Given the description of an element on the screen output the (x, y) to click on. 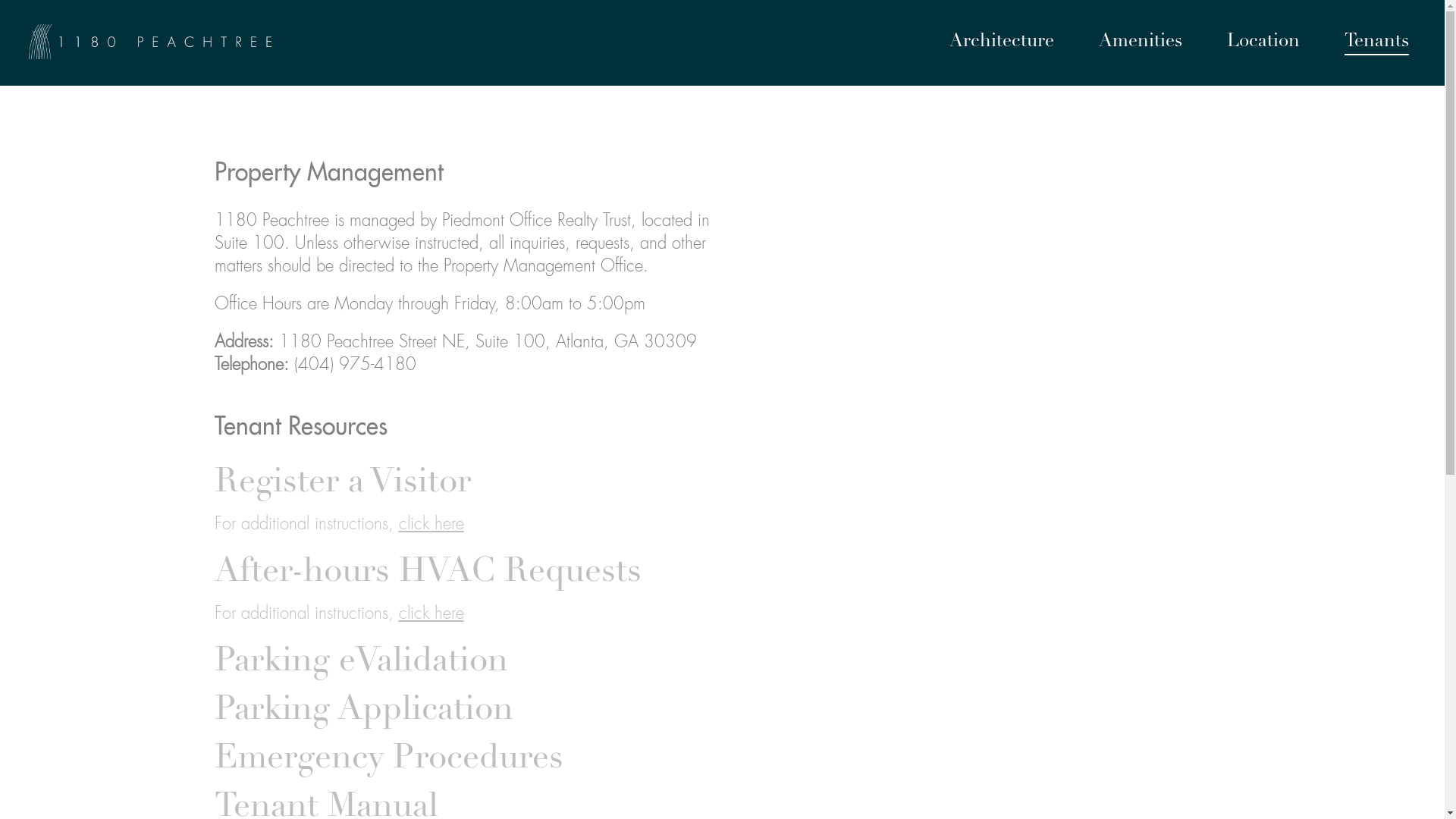
click here Element type: text (431, 613)
Emergency Procedures Element type: text (387, 759)
After-hours HVAC Requests Element type: text (426, 572)
Parking Application Element type: text (362, 711)
Tenants Element type: text (1376, 43)
Amenities Element type: text (1140, 43)
click here Element type: text (431, 524)
Location Element type: text (1262, 43)
Architecture Element type: text (1001, 43)
Register a Visitor Element type: text (341, 483)
Parking eValidation Element type: text (360, 662)
